Given the description of an element on the screen output the (x, y) to click on. 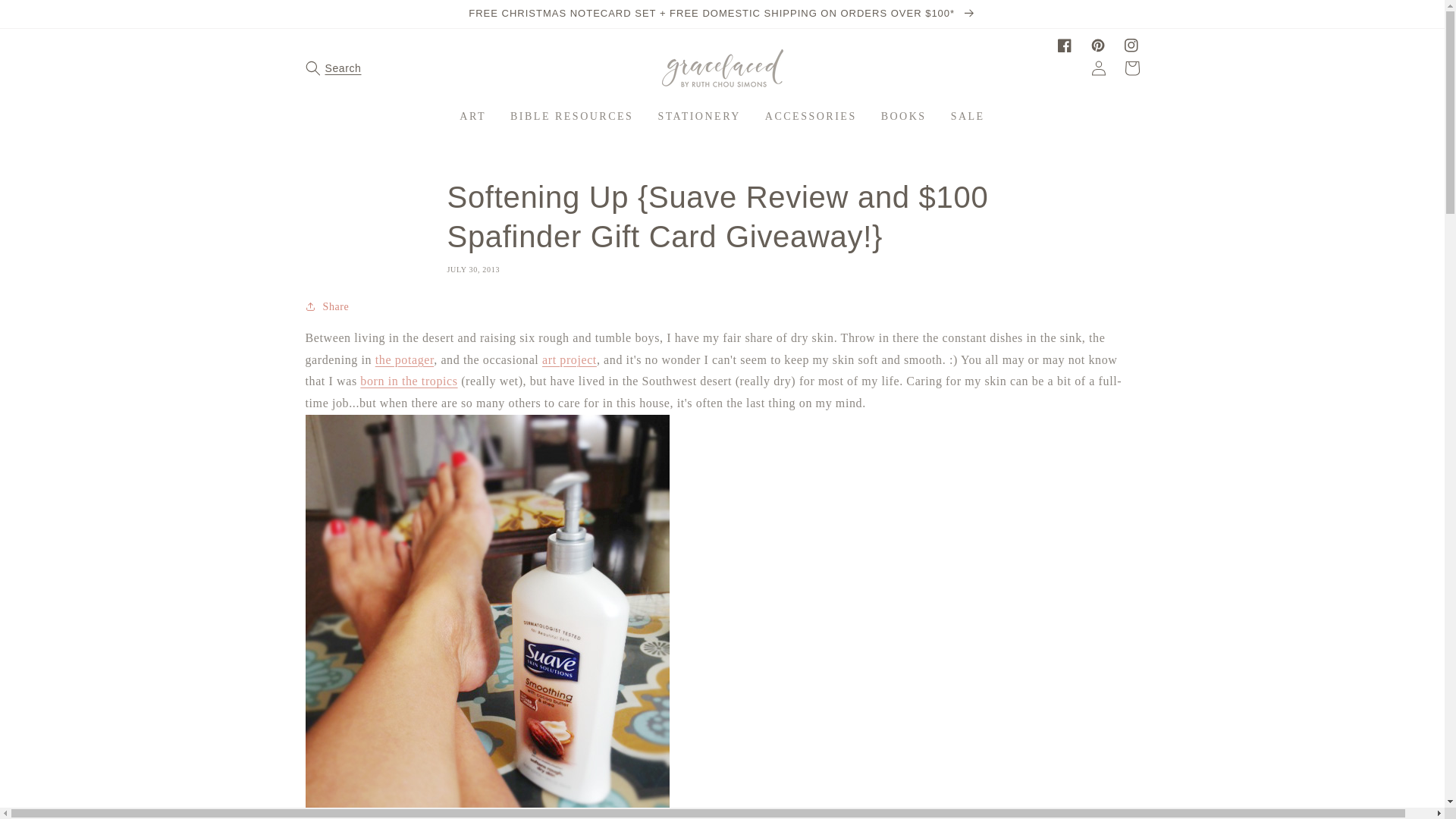
SKIP TO CONTENT (45, 17)
Instagram (1131, 45)
Facebook (1064, 45)
Pinterest (1098, 45)
